Given the description of an element on the screen output the (x, y) to click on. 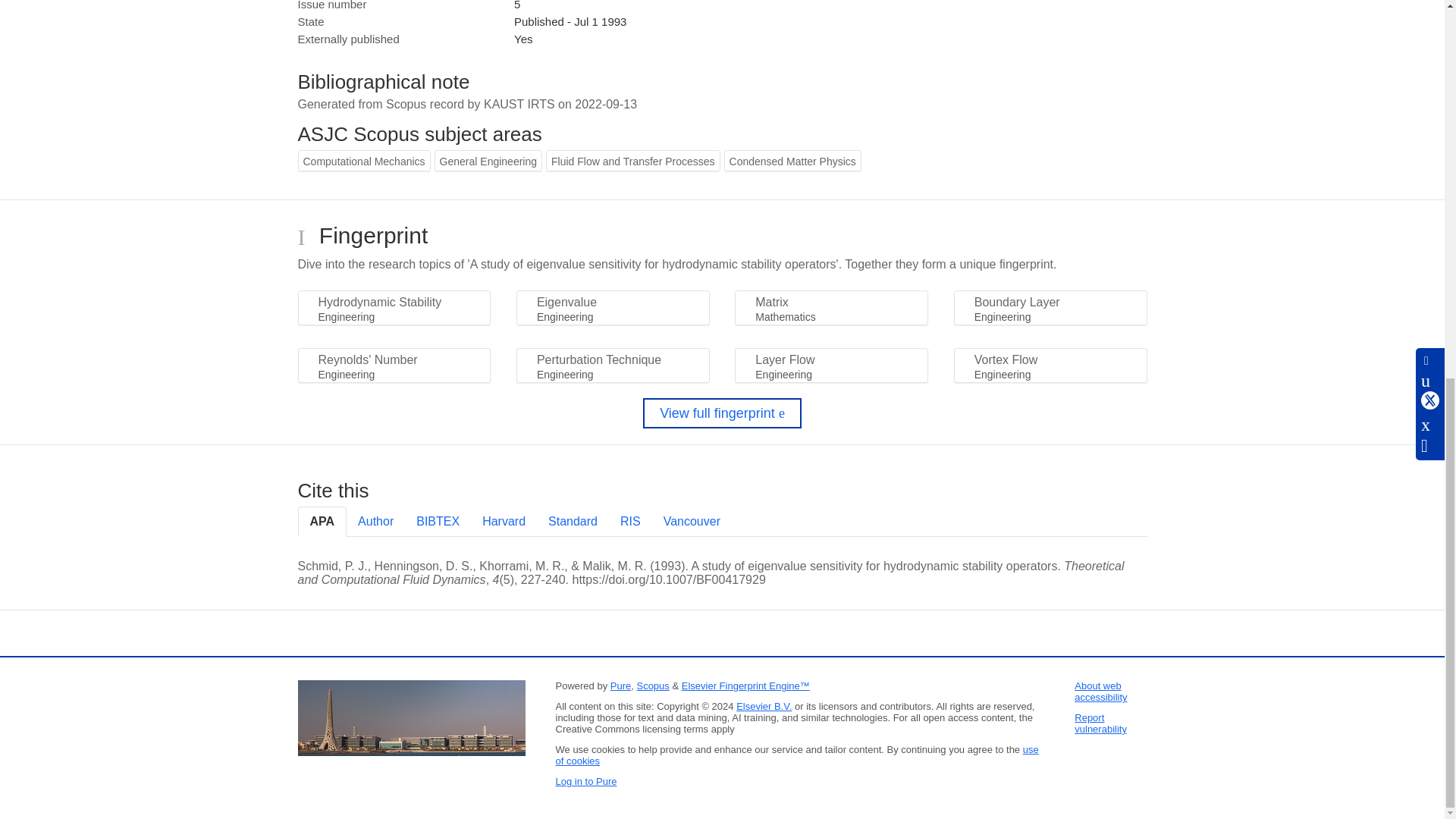
View full fingerprint (722, 413)
Scopus (652, 685)
Pure (620, 685)
